Given the description of an element on the screen output the (x, y) to click on. 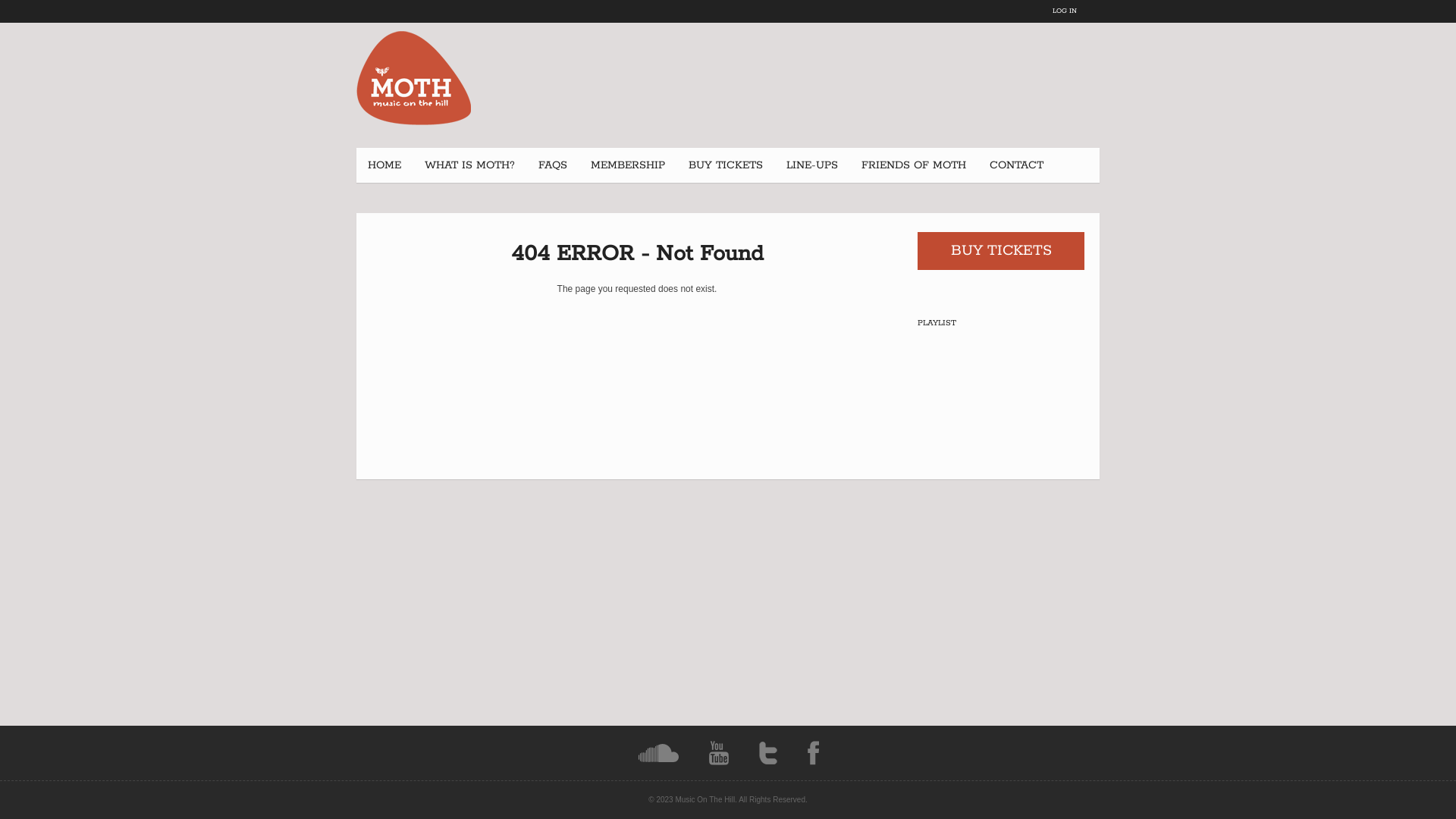
BUY TICKETS Element type: text (725, 164)
MEMBERSHIP Element type: text (627, 164)
FAQS Element type: text (552, 164)
LINE-UPS Element type: text (812, 164)
BUY TICKETS Element type: text (1000, 250)
CONTACT Element type: text (1016, 164)
LOG IN Element type: text (1064, 11)
FRIENDS OF MOTH Element type: text (913, 164)
HOME Element type: text (384, 164)
WHAT IS MOTH? Element type: text (469, 164)
